Given the description of an element on the screen output the (x, y) to click on. 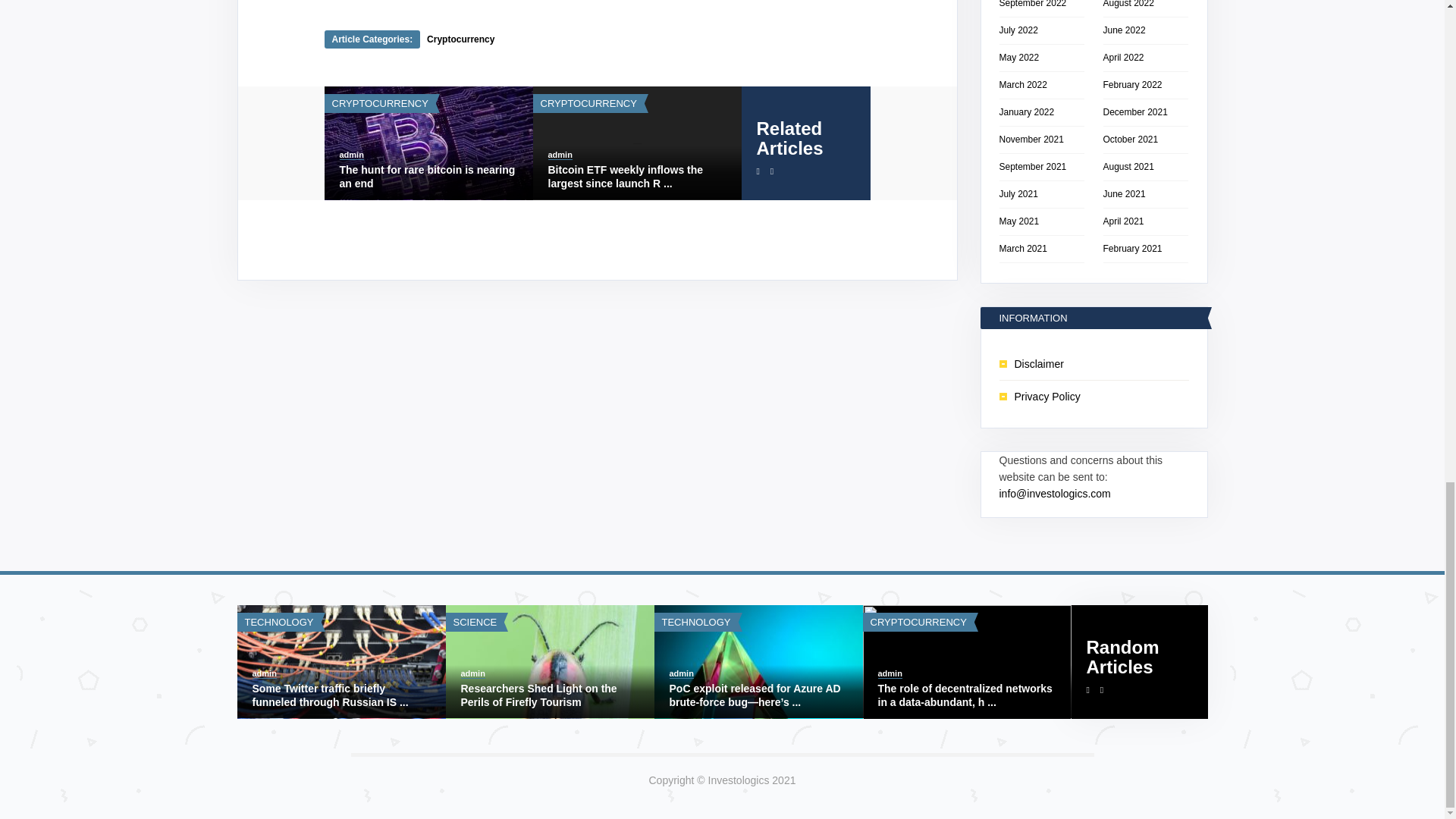
Posts by admin (351, 154)
admin (351, 154)
The hunt for rare bitcoin is nearing an end (428, 176)
Bitcoin ETF weekly inflows the largest since launch R ... (636, 176)
CRYPTOCURRENCY (379, 102)
CRYPTOCURRENCY (588, 102)
View all posts in Cryptocurrency (379, 102)
admin (559, 154)
Cryptocurrency (460, 39)
View all posts in Cryptocurrency (588, 102)
